Given the description of an element on the screen output the (x, y) to click on. 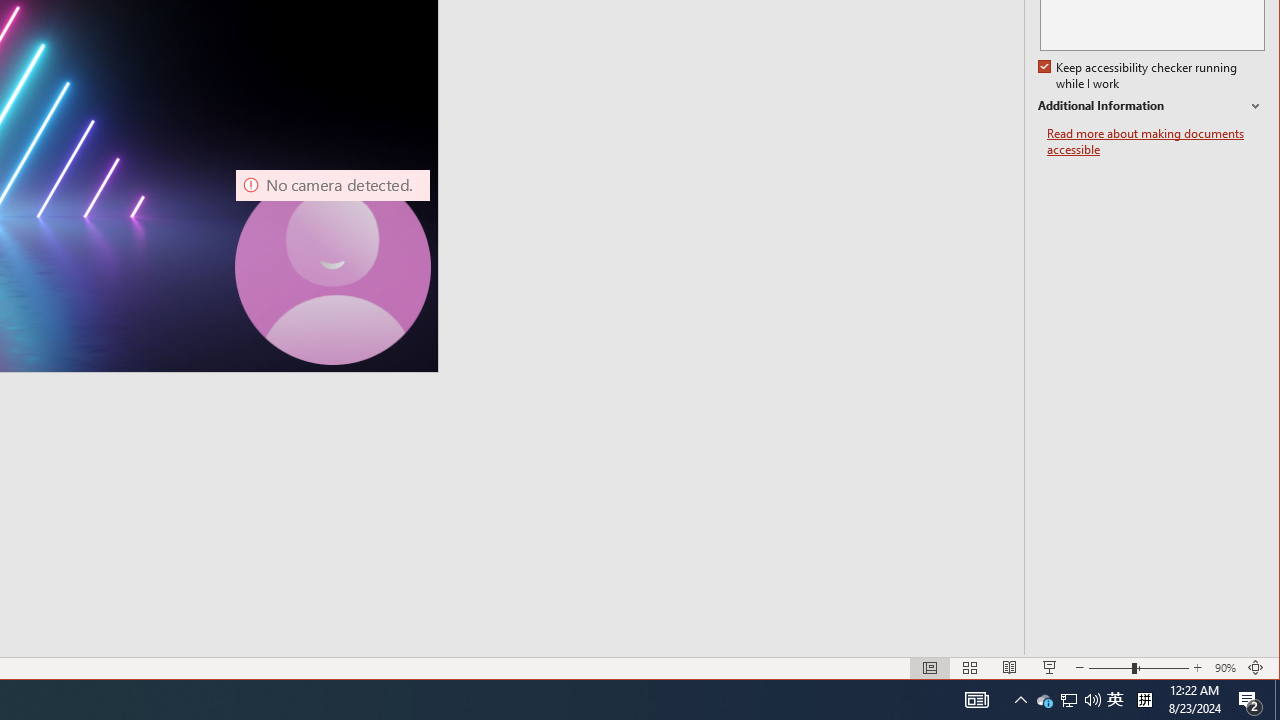
Read more about making documents accessible (1155, 142)
Additional Information (1044, 699)
